Given the description of an element on the screen output the (x, y) to click on. 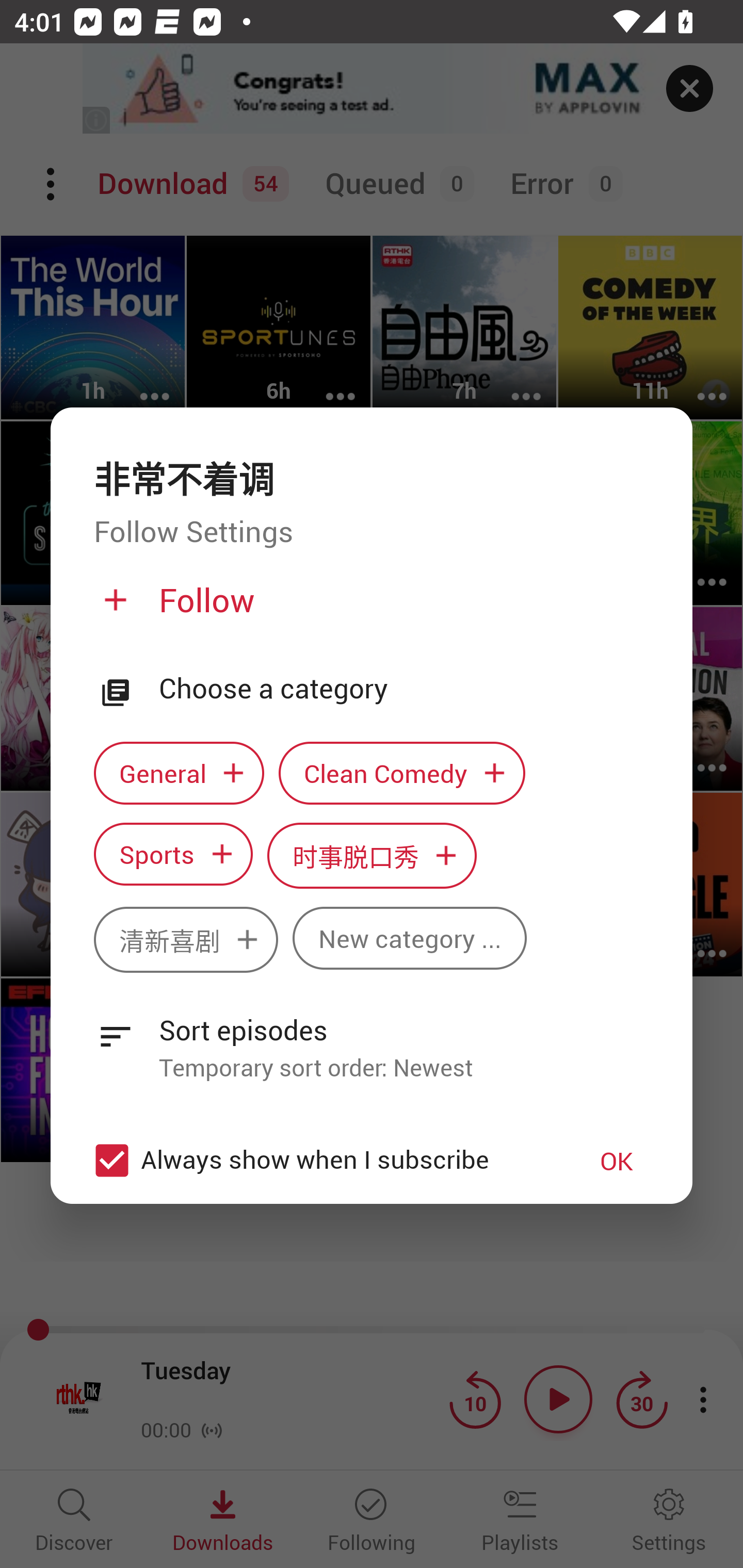
Follow (369, 608)
Choose a category (404, 688)
General (178, 772)
Clean Comedy (401, 772)
Sports (172, 854)
时事脱口秀 (372, 856)
清新喜剧 (185, 939)
New category ... (409, 937)
Sort episodes Temporary sort order: Newest (371, 1037)
OK (616, 1160)
Always show when I subscribe (320, 1161)
